Given the description of an element on the screen output the (x, y) to click on. 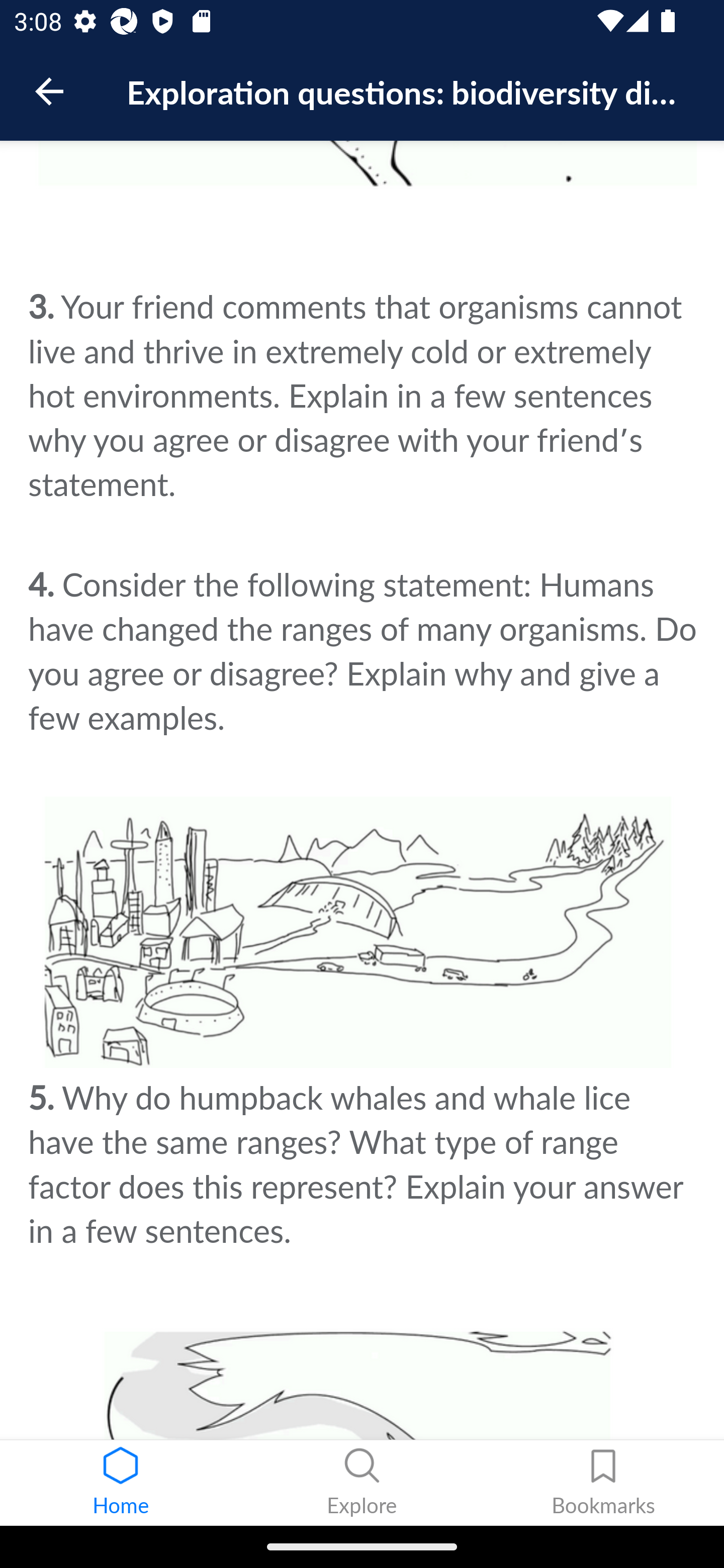
Navigate up (49, 91)
Home (120, 1482)
Explore (361, 1482)
Bookmarks (603, 1482)
